Given the description of an element on the screen output the (x, y) to click on. 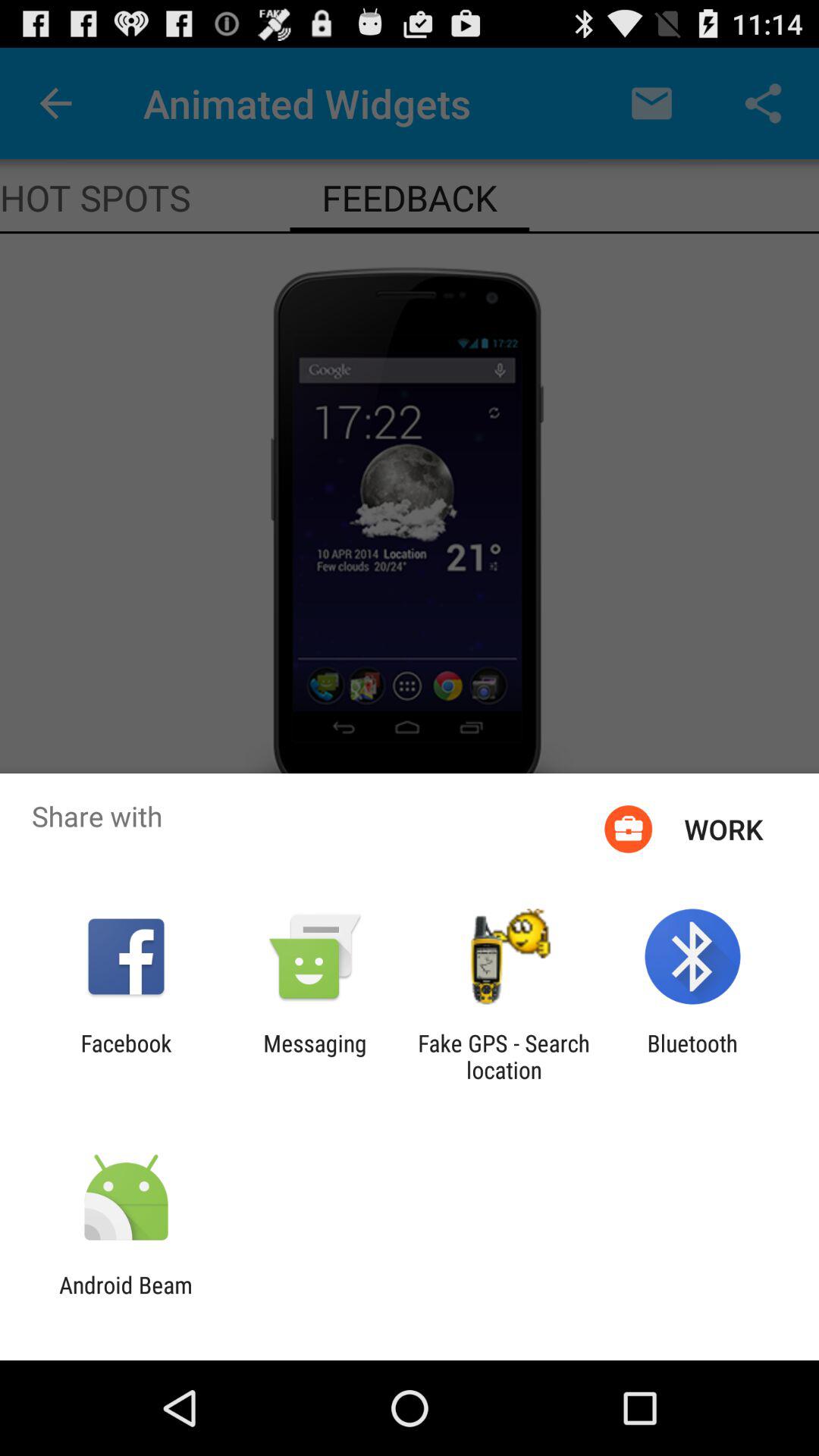
scroll until the android beam icon (125, 1298)
